Given the description of an element on the screen output the (x, y) to click on. 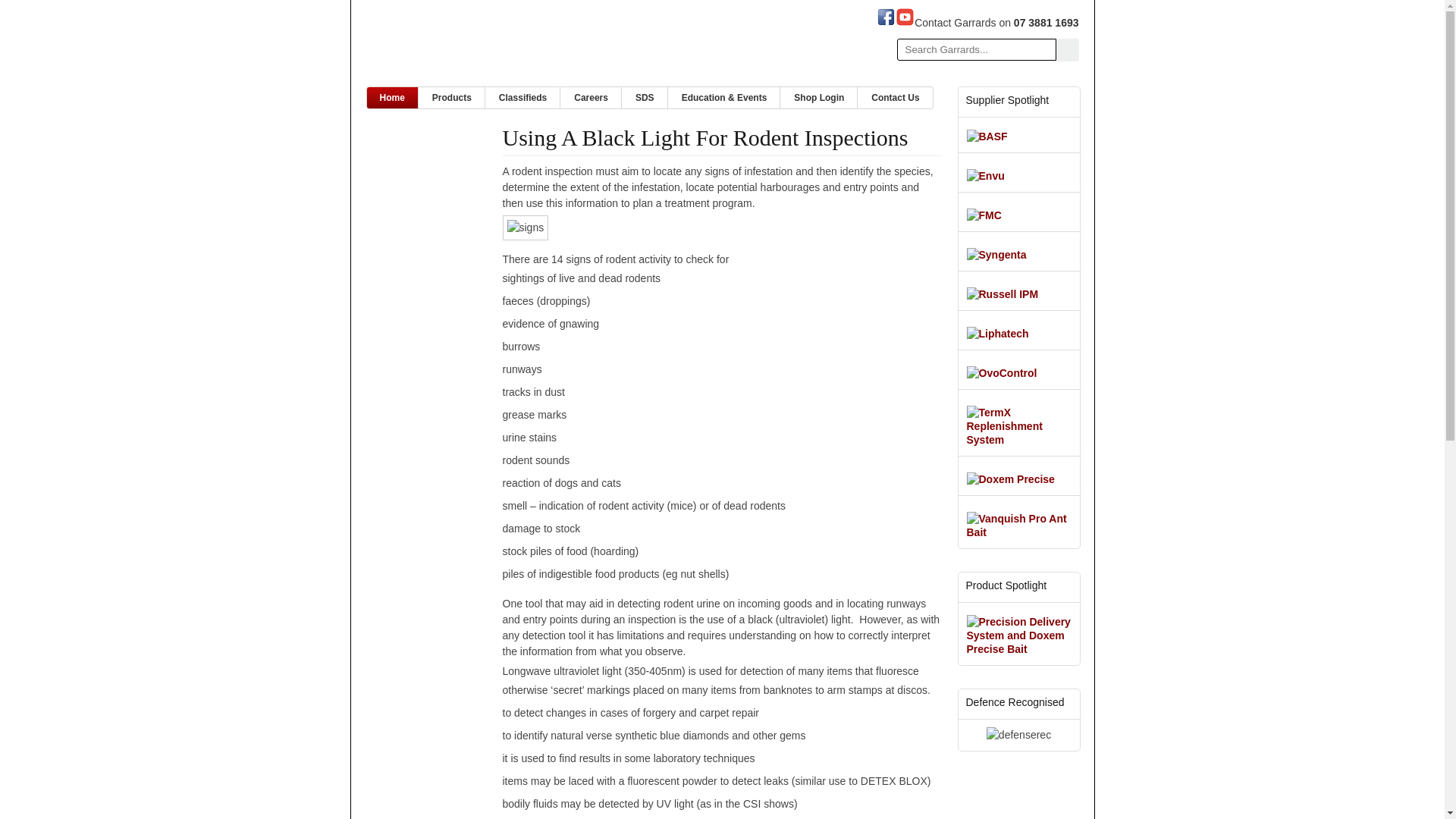
Doxem Precise Element type: hover (1010, 475)
Precision Delivery System and Doxem Precise Bait Element type: hover (1018, 630)
Russell IPM Element type: hover (1002, 294)
SDS Element type: text (644, 97)
Precision Delivery System and Doxem Precise Bait Element type: hover (1018, 649)
OvoControl Element type: hover (1001, 373)
Education & Events Element type: text (724, 97)
FMC Element type: hover (984, 211)
Doxem Precise Element type: hover (1010, 479)
Syngenta Element type: hover (996, 250)
Home Element type: text (392, 97)
Garrards: Service with integrity Element type: text (479, 46)
Liphatech Element type: hover (997, 329)
TermX Replenishment System Element type: hover (1018, 421)
Liphatech Element type: hover (997, 333)
Vanquish Pro Ant Bait Element type: hover (1018, 521)
BASF Element type: hover (987, 136)
Vanquish Pro Ant Bait Element type: hover (1018, 532)
Envu Element type: hover (985, 171)
Envu Element type: hover (985, 175)
Contact Us Element type: text (894, 97)
FMC Element type: hover (984, 215)
Classifieds Element type: text (522, 97)
Russell IPM Element type: hover (1002, 290)
TermX Replenishment System Element type: hover (1018, 439)
Syngenta Element type: hover (996, 254)
Careers Element type: text (591, 97)
Search Element type: text (1066, 49)
OvoControl Element type: hover (1001, 368)
Shop Login Element type: text (818, 97)
Products Element type: text (451, 97)
BASF Element type: hover (987, 132)
